Given the description of an element on the screen output the (x, y) to click on. 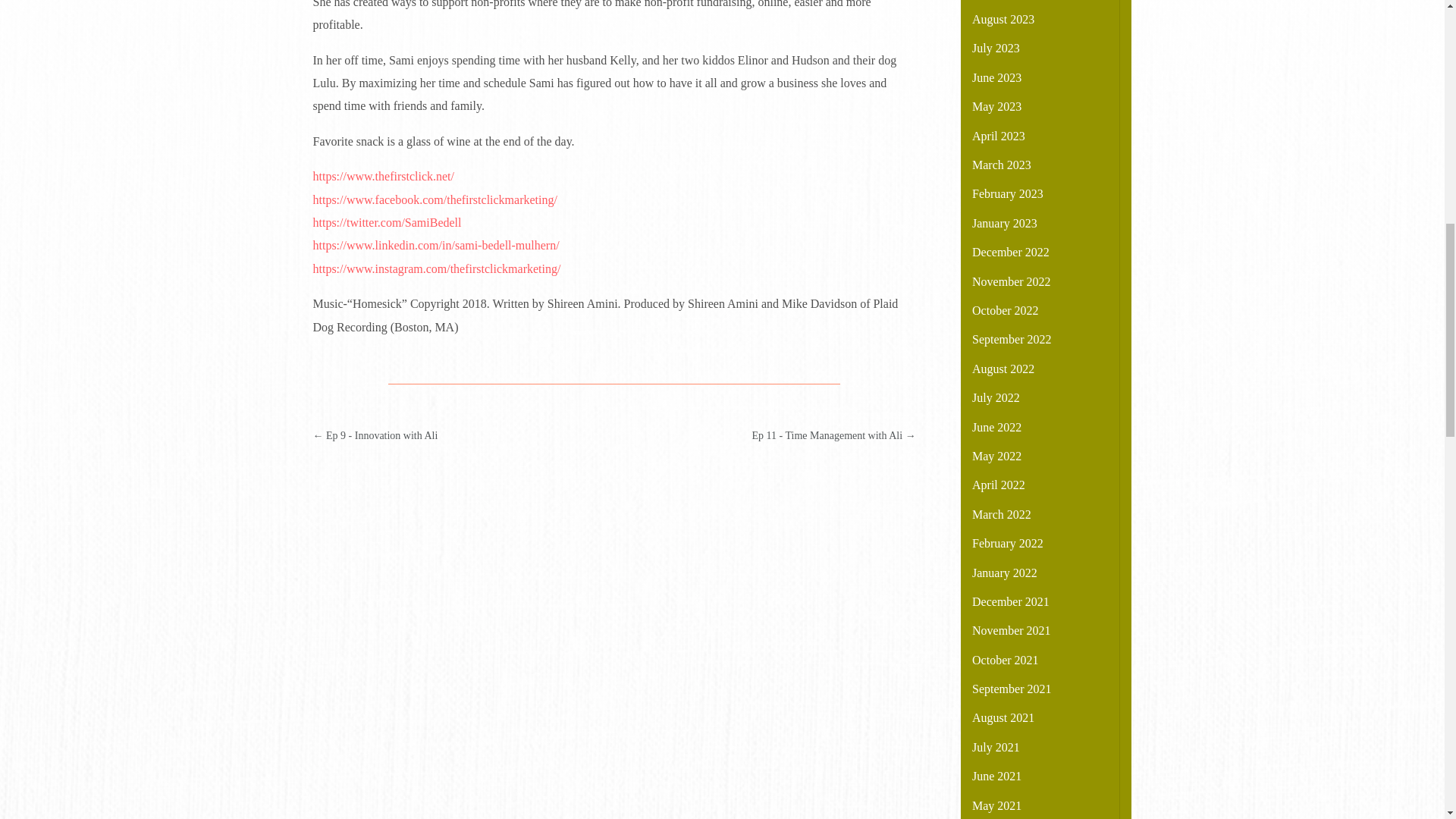
April 2023 (998, 135)
August 2023 (1002, 19)
July 2023 (996, 47)
May 2023 (997, 106)
June 2023 (997, 77)
